Given the description of an element on the screen output the (x, y) to click on. 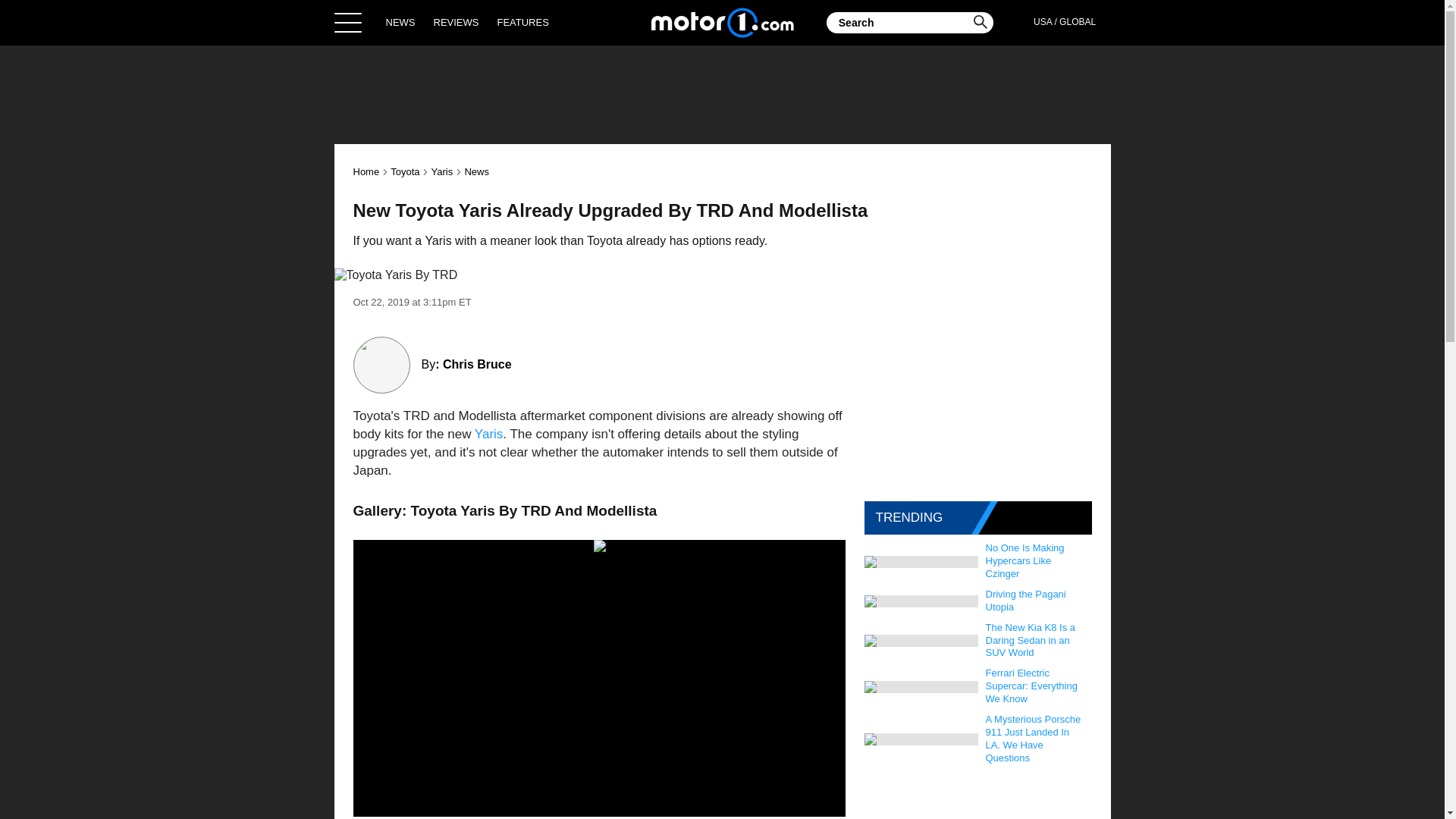
Home (721, 22)
Yaris (441, 171)
News (476, 171)
Toyota (404, 171)
NEWS (399, 22)
Chris Bruce (477, 364)
Yaris (488, 433)
REVIEWS (456, 22)
FEATURES (522, 22)
Home (366, 171)
